Given the description of an element on the screen output the (x, y) to click on. 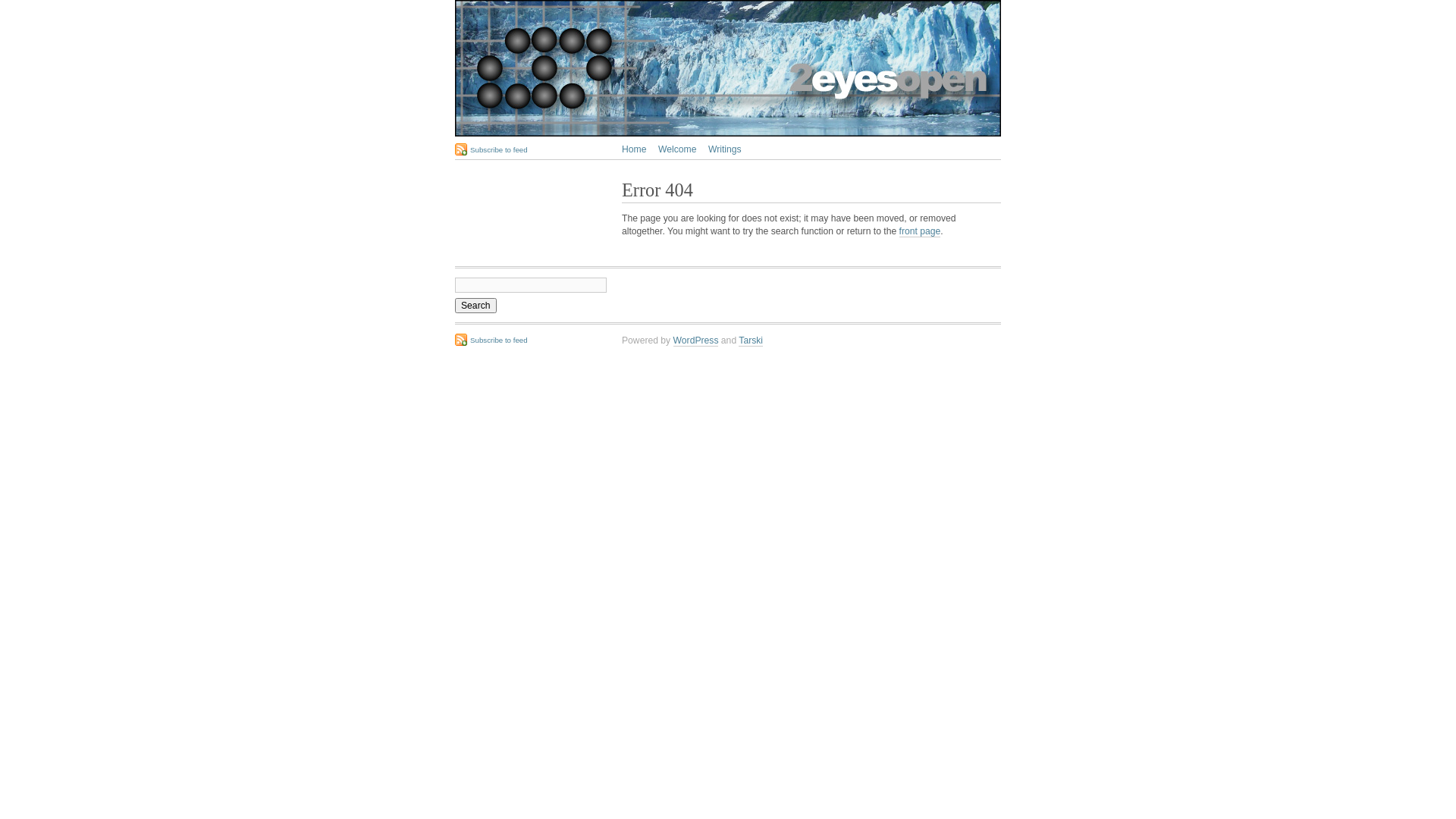
Subscribe to feed Element type: text (491, 149)
Home Element type: text (633, 149)
WordPress Element type: text (695, 340)
Subscribe to feed Element type: text (491, 340)
front page Element type: text (920, 231)
Tarski Element type: text (750, 340)
Writings Element type: text (724, 149)
Search Element type: text (475, 305)
Welcome Element type: text (677, 149)
